Given the description of an element on the screen output the (x, y) to click on. 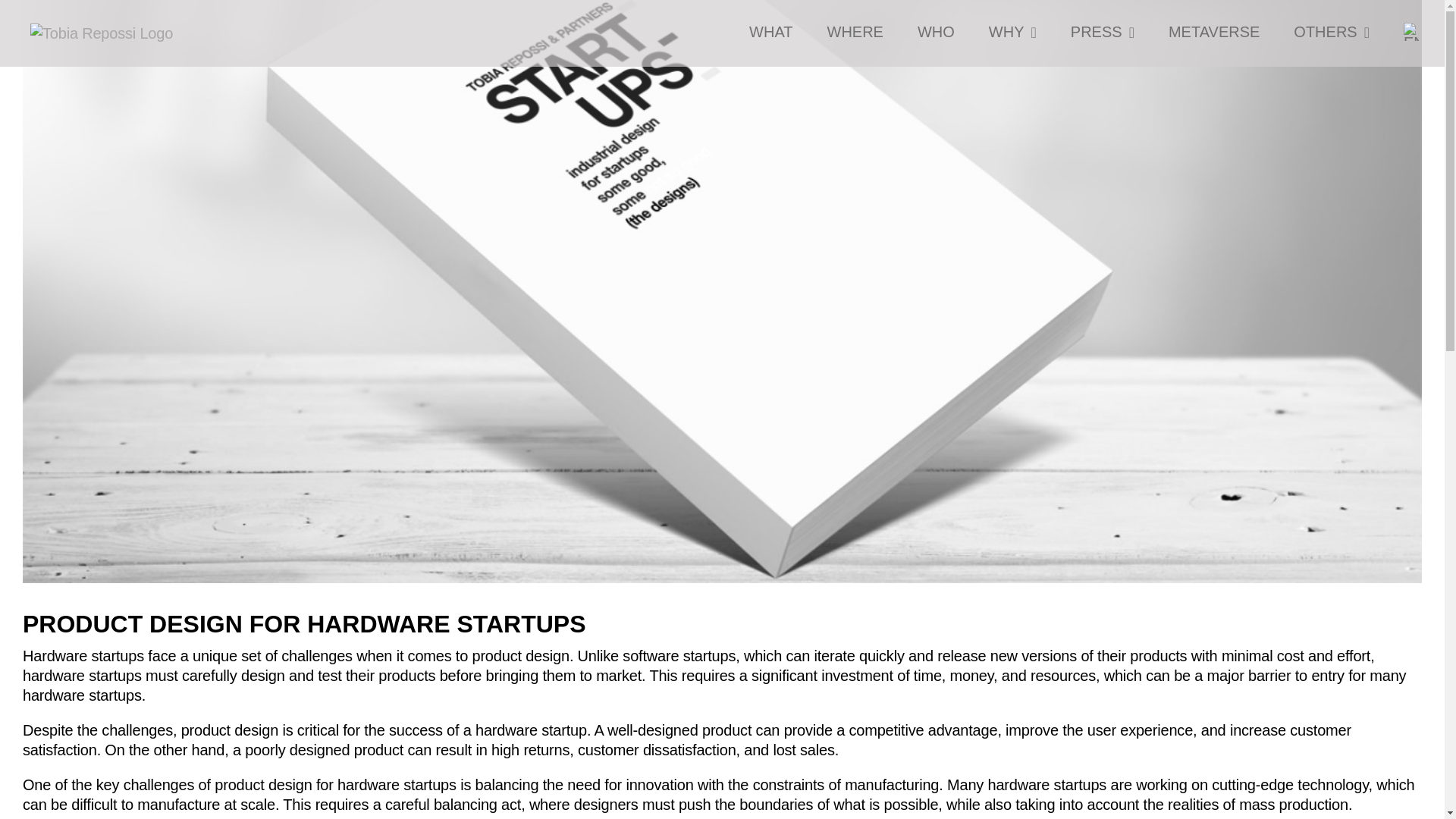
PRESS (1102, 31)
METAVERSE (1214, 31)
OTHERS (1332, 31)
